Given the description of an element on the screen output the (x, y) to click on. 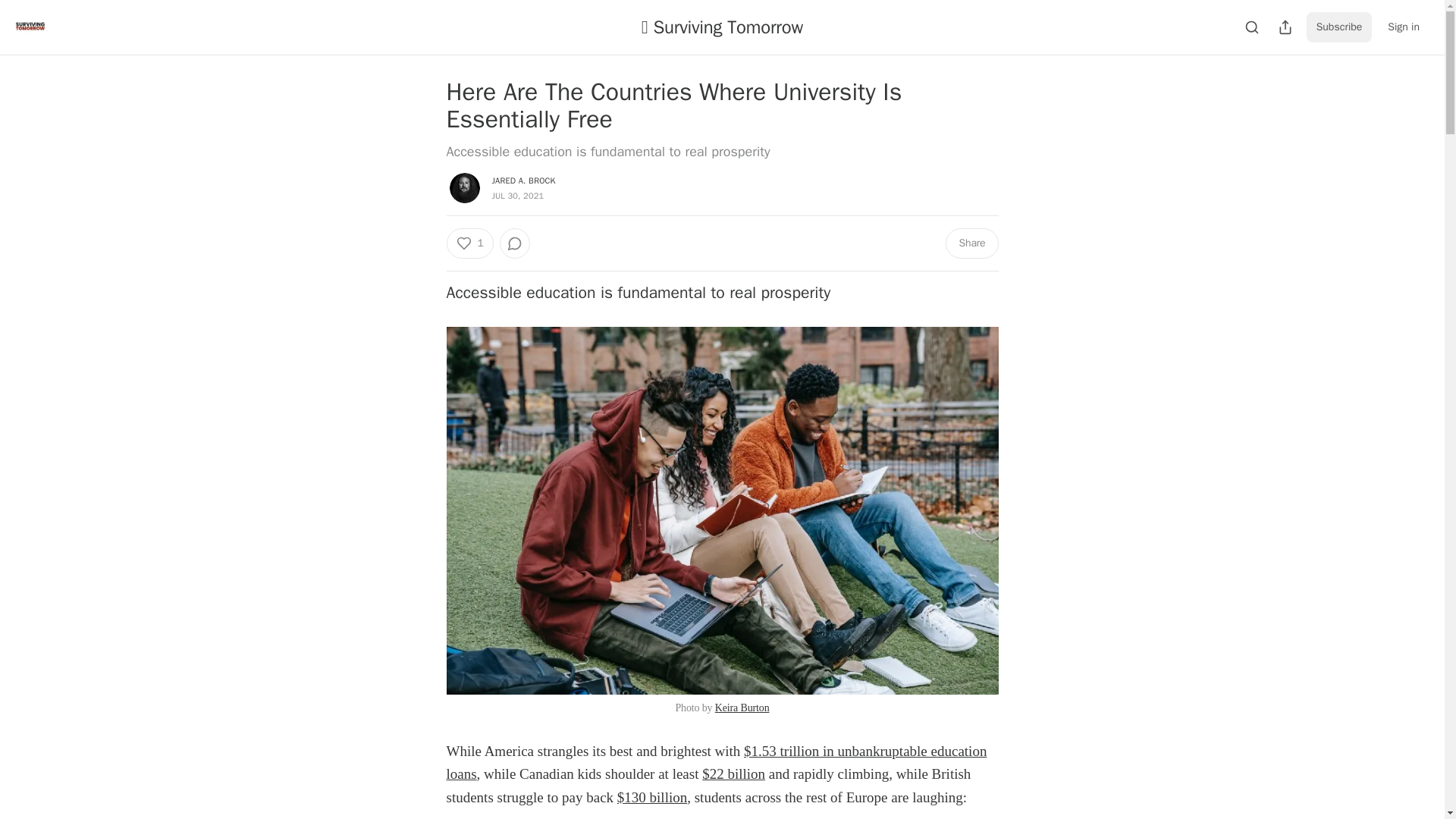
JARED A. BROCK (523, 180)
Share (970, 243)
Sign in (1403, 27)
1 (469, 243)
Keira Burton (742, 707)
Subscribe (1339, 27)
